Given the description of an element on the screen output the (x, y) to click on. 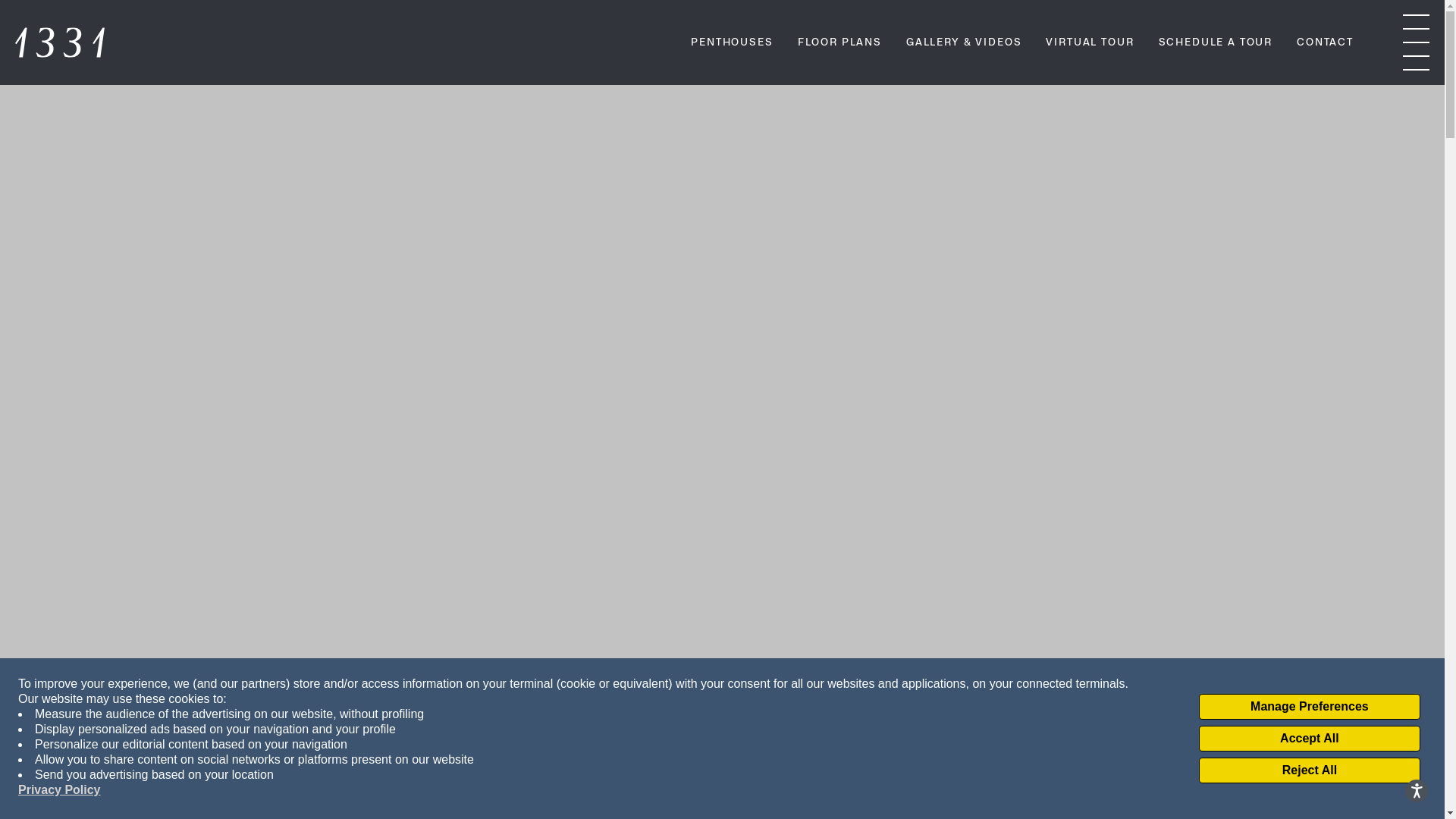
SCHEDULE A TOUR Element type: text (1215, 43)
Privacy Policy Element type: text (59, 789)
Next Element type: text (721, 772)
Accept All Element type: text (1309, 738)
GALLERY & VIDEOS Element type: text (963, 43)
Reject All Element type: text (1309, 770)
VIRTUAL TOUR Element type: text (1089, 43)
CONTACT Element type: text (1324, 43)
Manage Preferences Element type: text (1309, 706)
FLOOR PLANS Element type: text (839, 43)
PENTHOUSES Element type: text (731, 43)
